Given the description of an element on the screen output the (x, y) to click on. 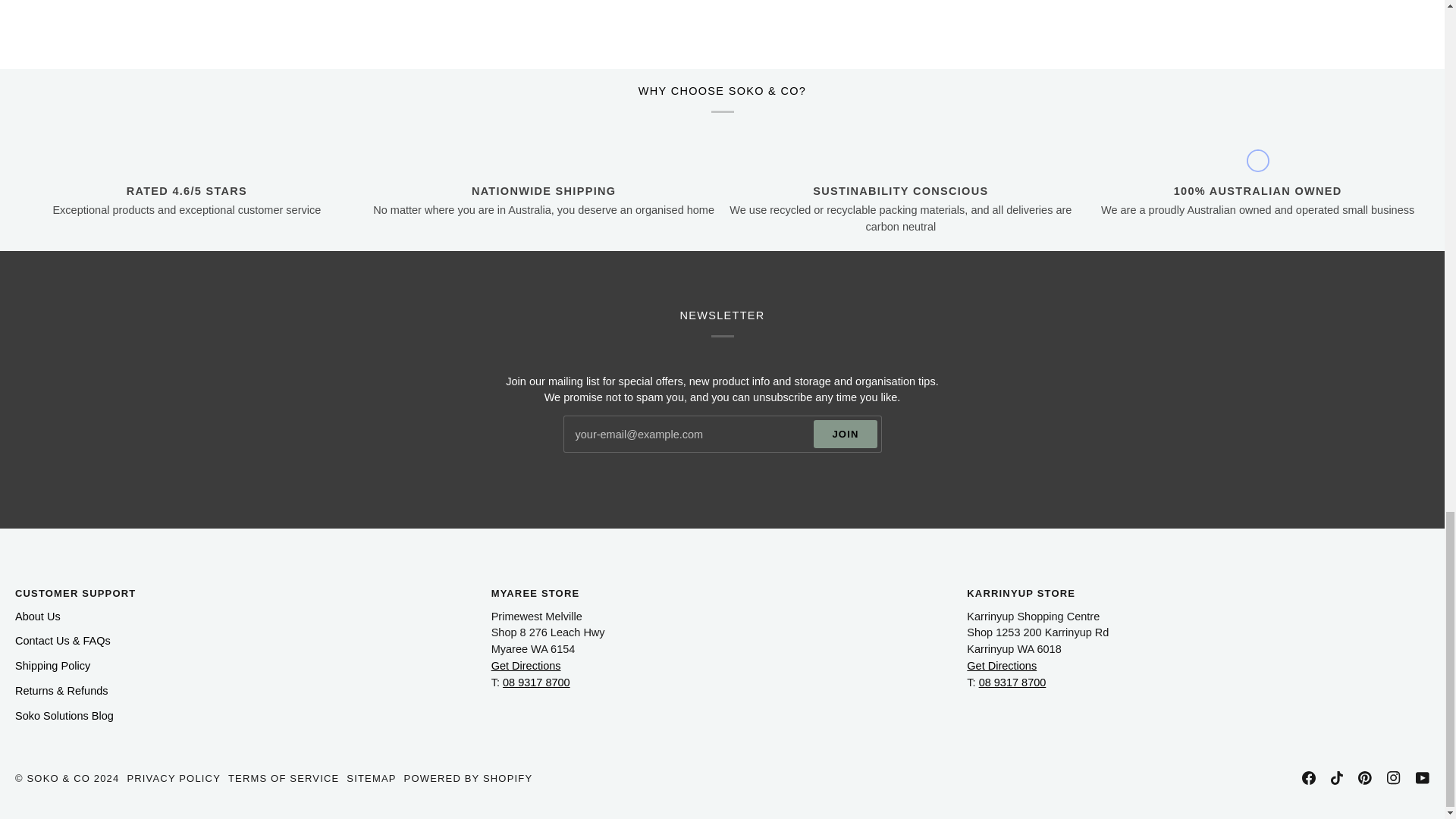
Facebook (1308, 777)
Tiktok (1336, 777)
Instagram (1393, 777)
Pinterest (1364, 777)
YouTube (1422, 777)
tel:61893178700 (1012, 682)
